Given the description of an element on the screen output the (x, y) to click on. 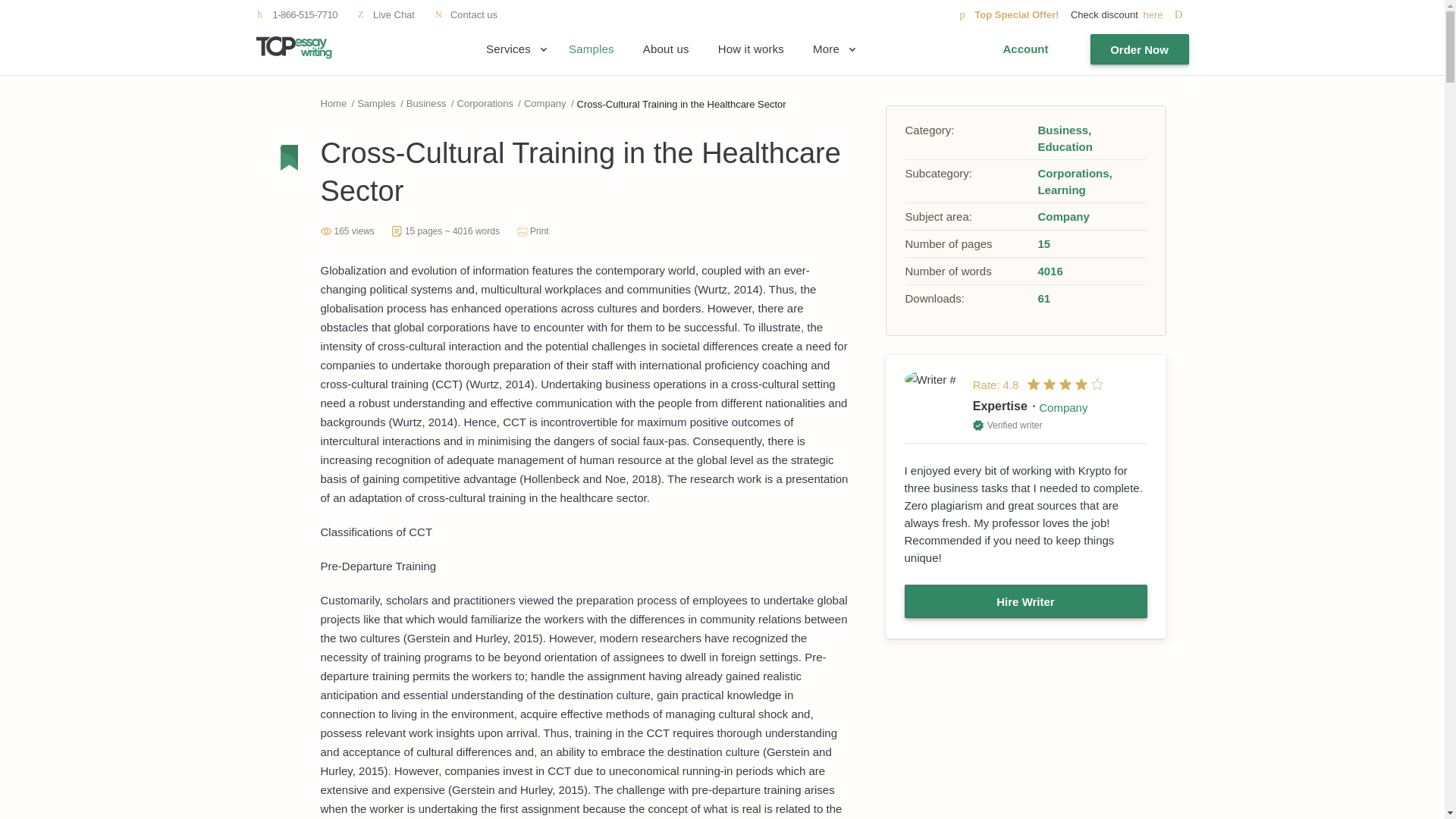
Order Now (1139, 49)
Business (426, 102)
About us (665, 49)
Business (1063, 130)
Samples (376, 102)
Live Chat (385, 14)
1-866-515-7710 (296, 14)
Home (333, 102)
here (1165, 14)
Print (532, 231)
Account (1025, 49)
Company (545, 102)
Samples (591, 49)
Contact us (465, 14)
Corporations (485, 102)
